Given the description of an element on the screen output the (x, y) to click on. 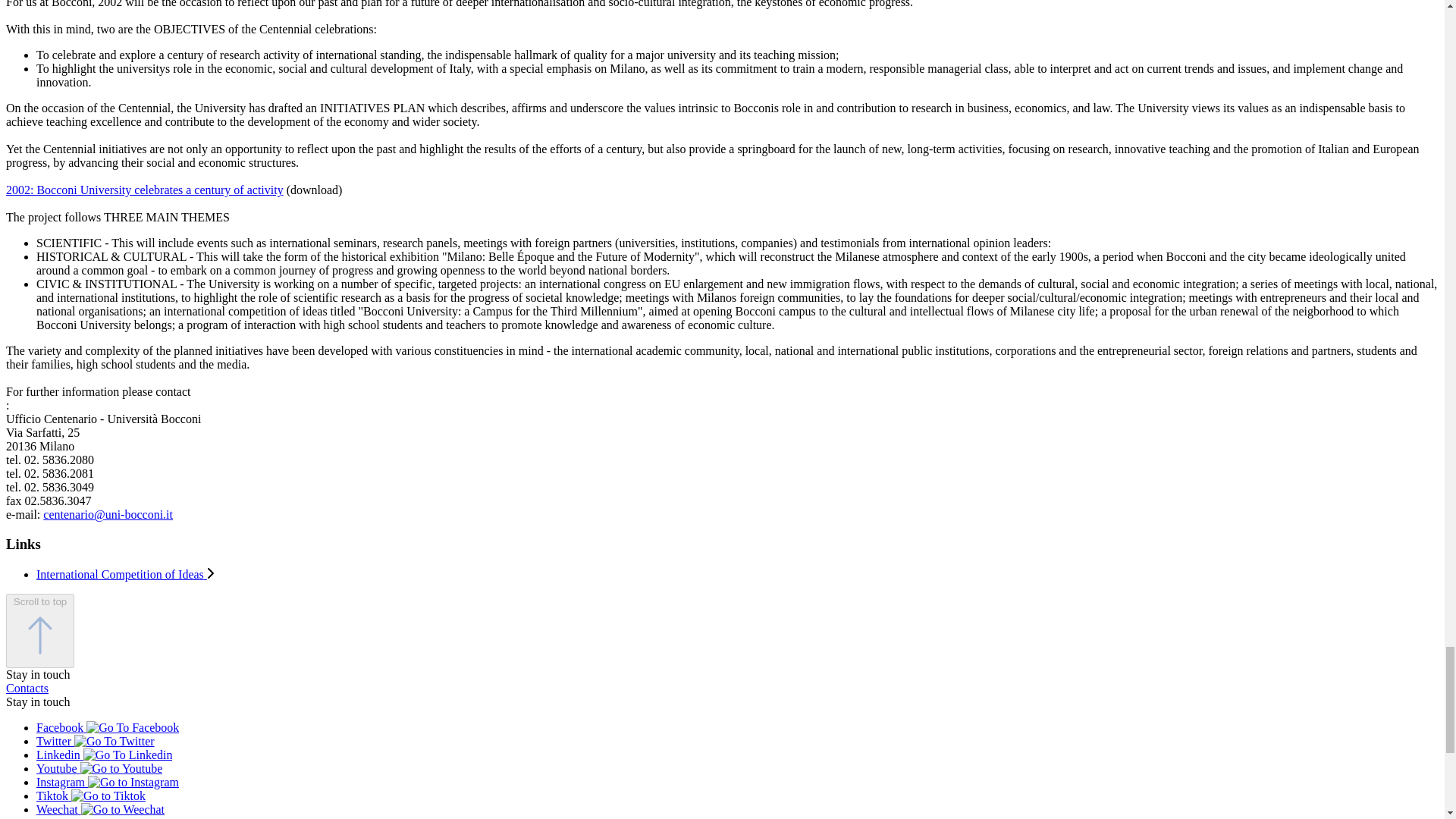
Linkedin (127, 755)
Youtube (121, 768)
Weechat (122, 809)
Scroll to top (39, 630)
Twitter (114, 741)
Instagram (133, 782)
Facebook (132, 727)
Tiktok (108, 796)
